Given the description of an element on the screen output the (x, y) to click on. 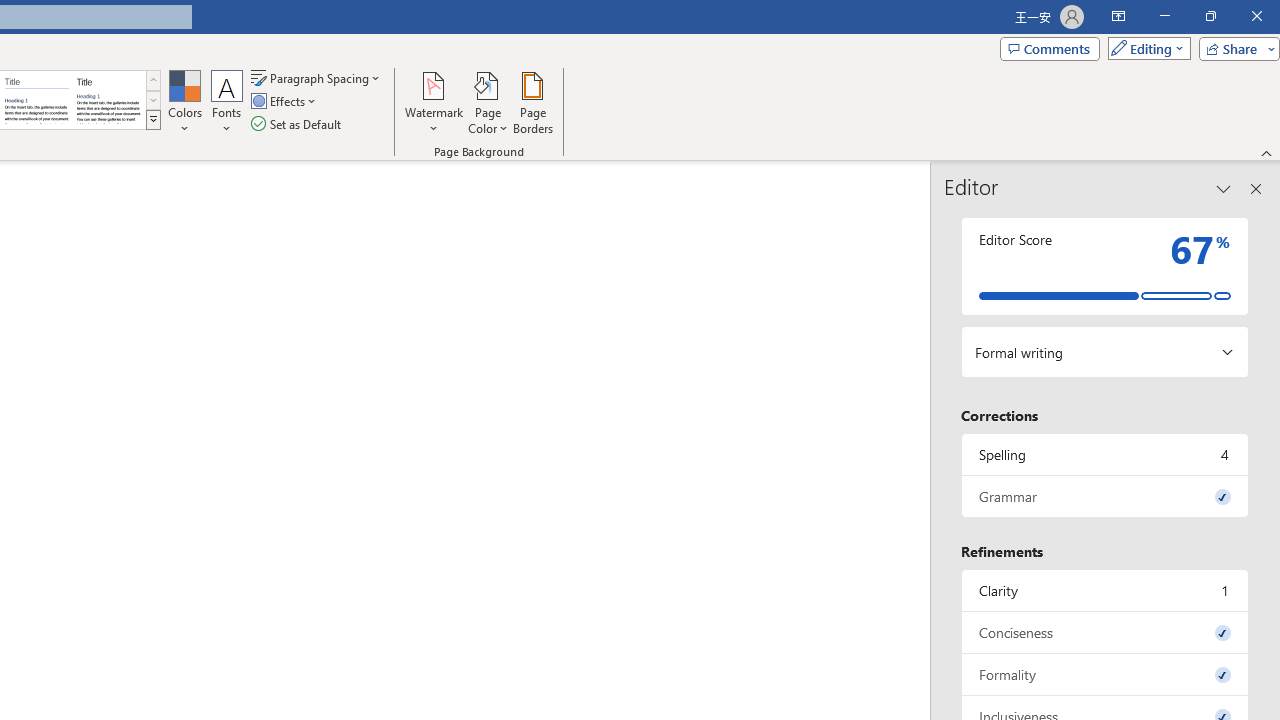
Word 2013 (108, 100)
Editor Score 67% (1105, 266)
Grammar, 0 issues. Press space or enter to review items. (1105, 495)
Word 2010 (36, 100)
Page Borders... (532, 102)
Colors (184, 102)
Paragraph Spacing (317, 78)
